Given the description of an element on the screen output the (x, y) to click on. 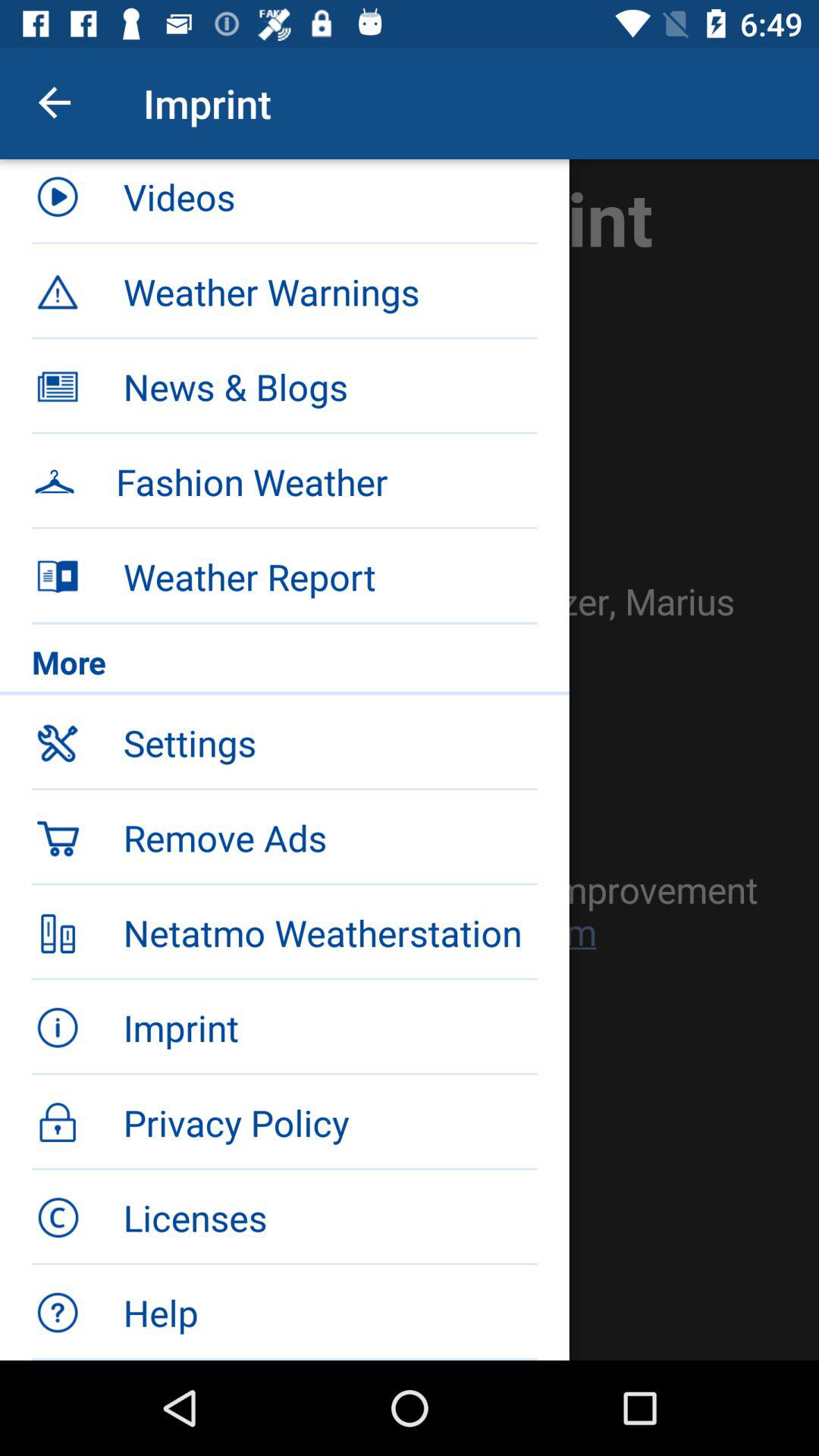
turn on item below the imprint icon (330, 201)
